Given the description of an element on the screen output the (x, y) to click on. 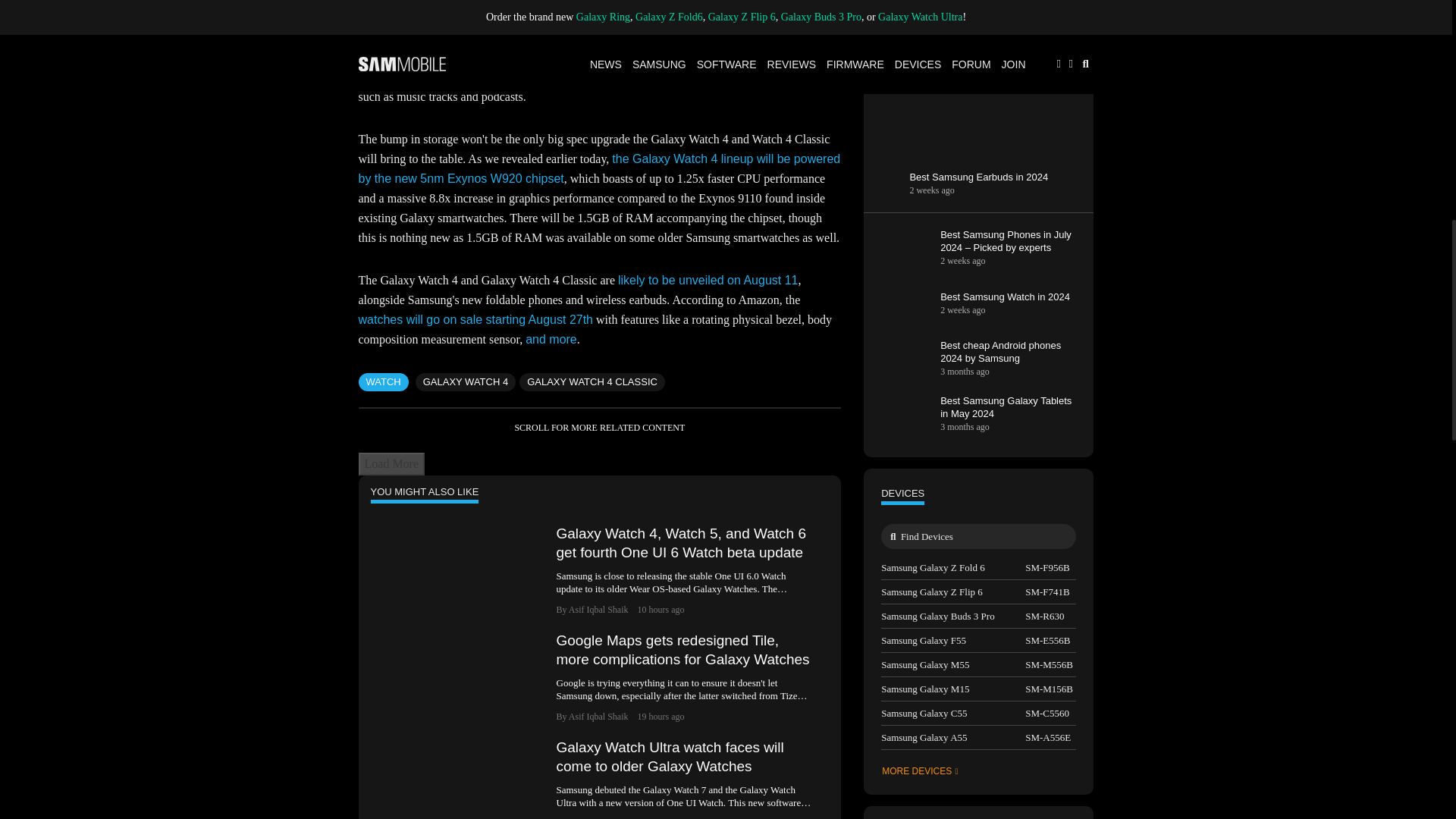
SCROLL FOR MORE RELATED CONTENT (599, 427)
